Given the description of an element on the screen output the (x, y) to click on. 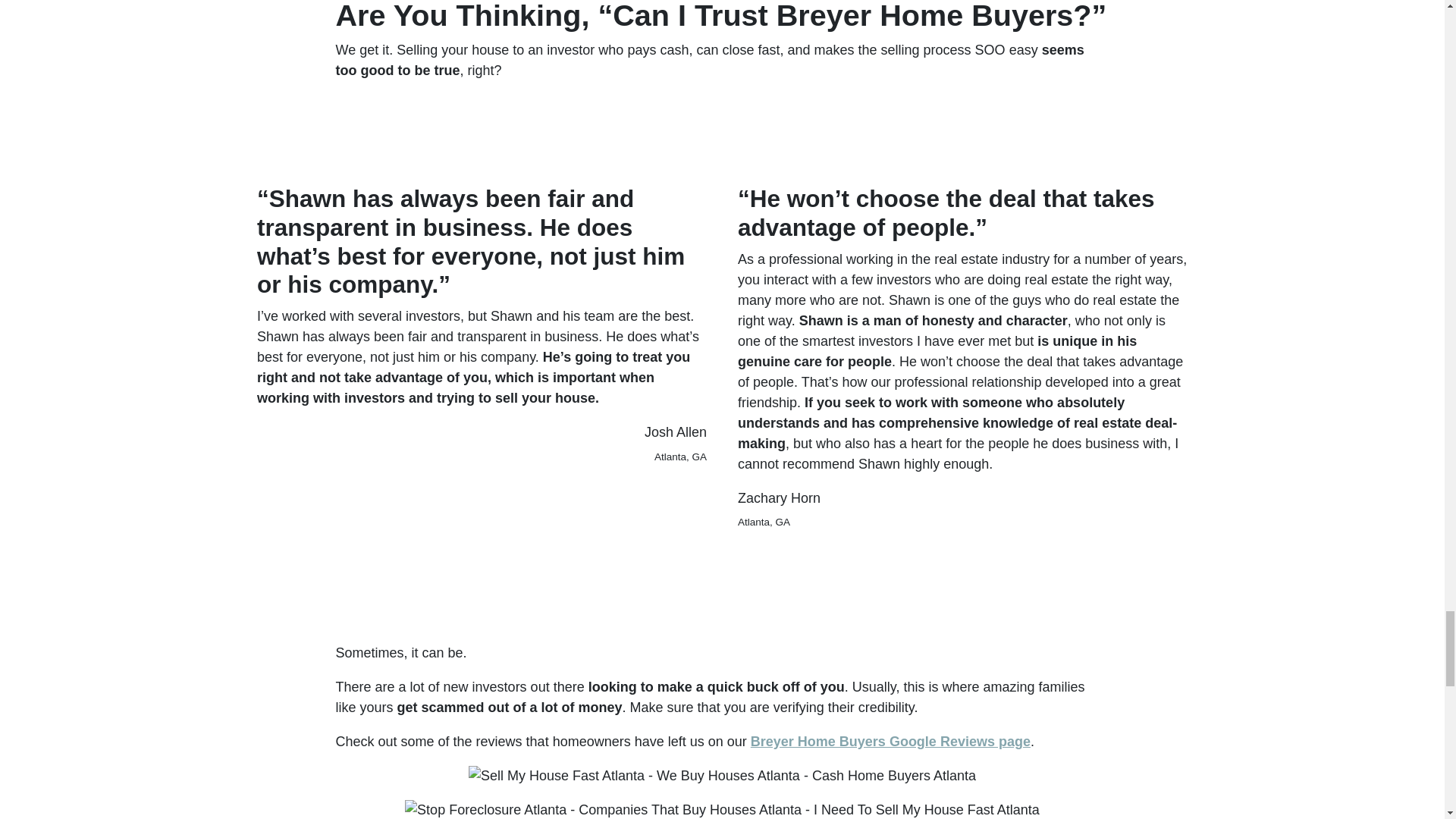
Breyer Home Buyers Google Reviews page (890, 741)
